Given the description of an element on the screen output the (x, y) to click on. 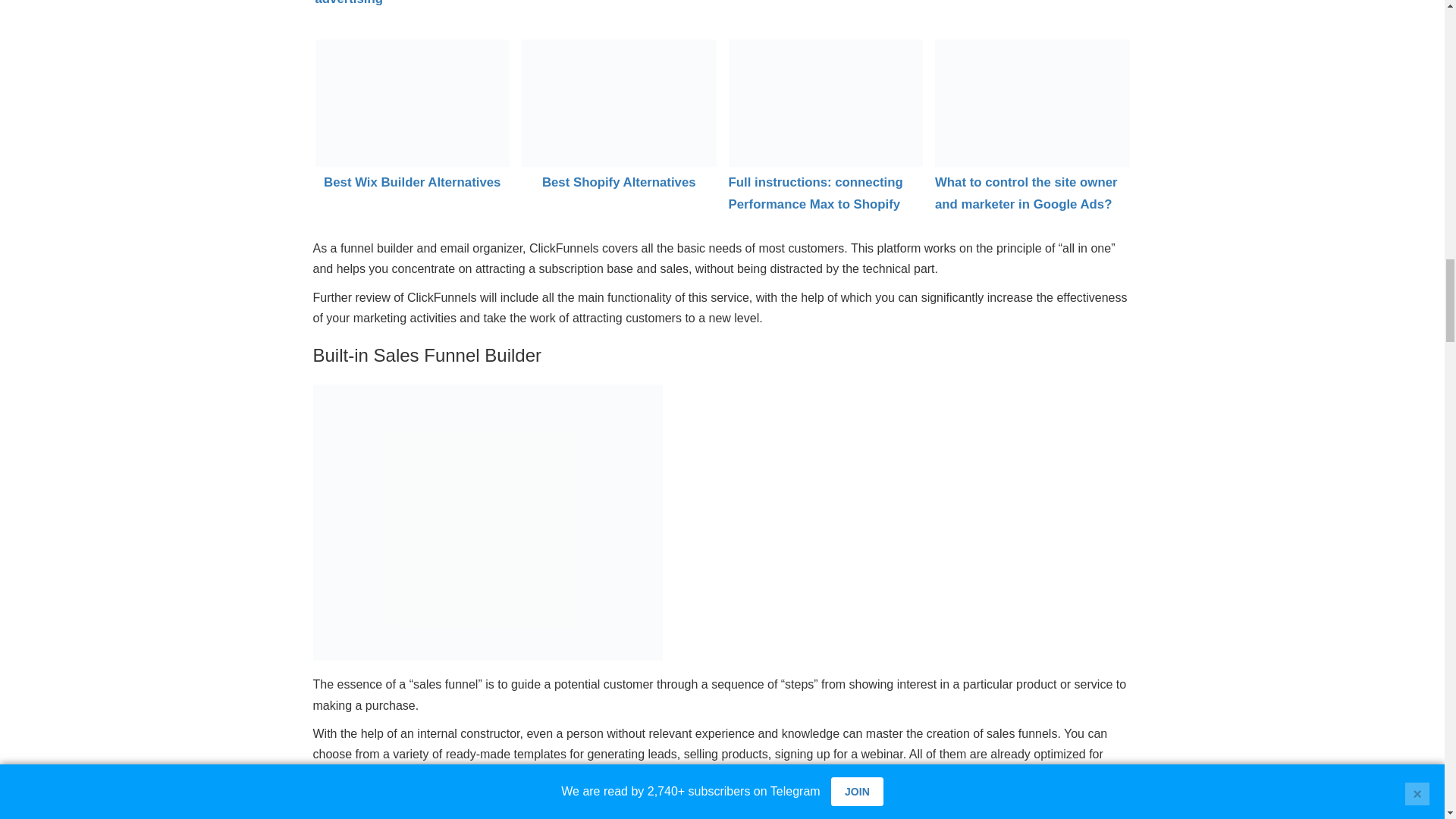
Best Shopify Alternatives (618, 103)
Best Wix Builder Alternatives (413, 103)
Full instructions: connecting Performance Max to Shopify (825, 103)
What to control the site owner and marketer in Google Ads? (1031, 103)
